Given the description of an element on the screen output the (x, y) to click on. 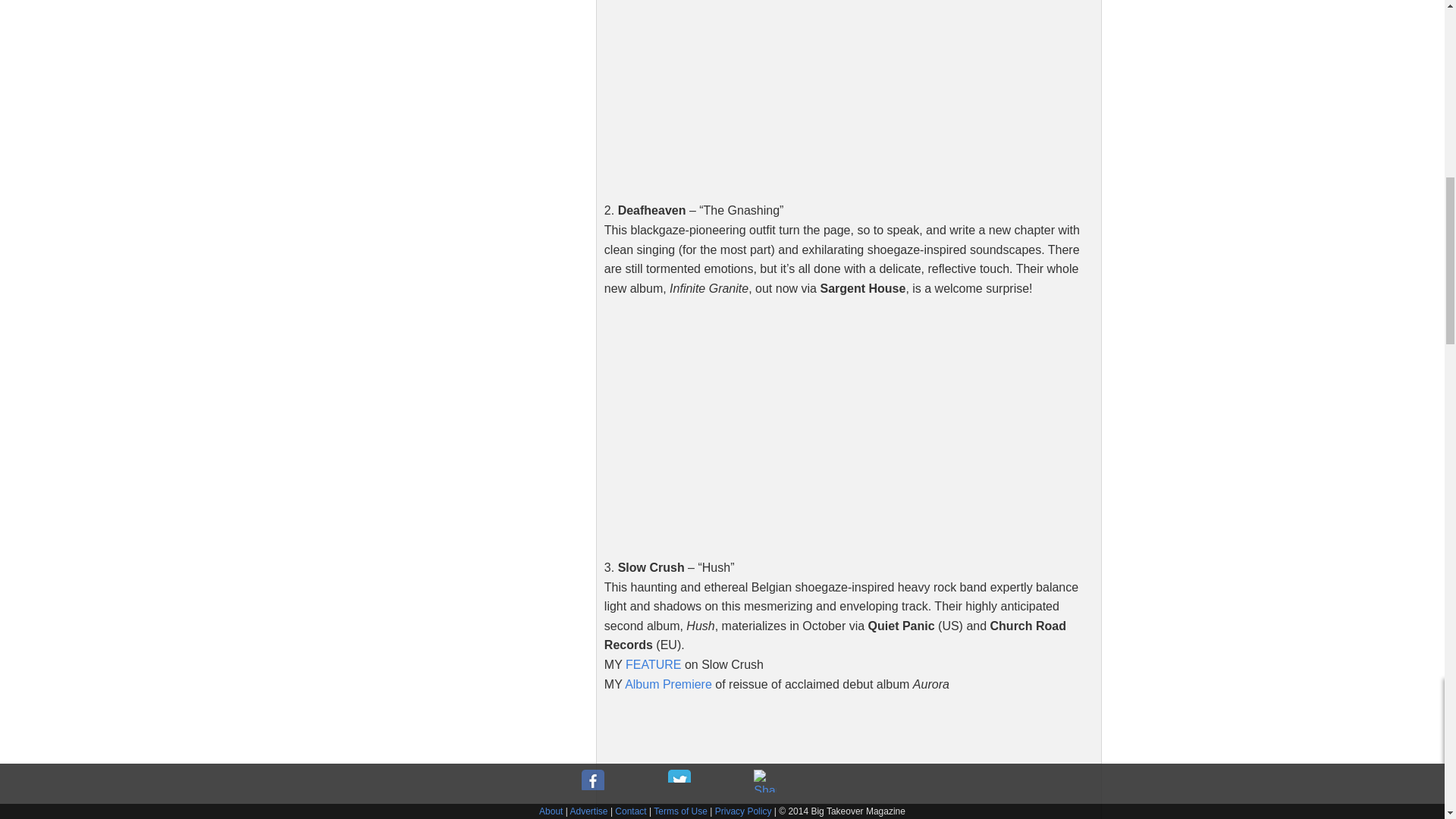
Album Premiere (667, 684)
FEATURE (653, 664)
YouTube video player (816, 760)
YouTube video player (816, 424)
YouTube video player (816, 94)
